Given the description of an element on the screen output the (x, y) to click on. 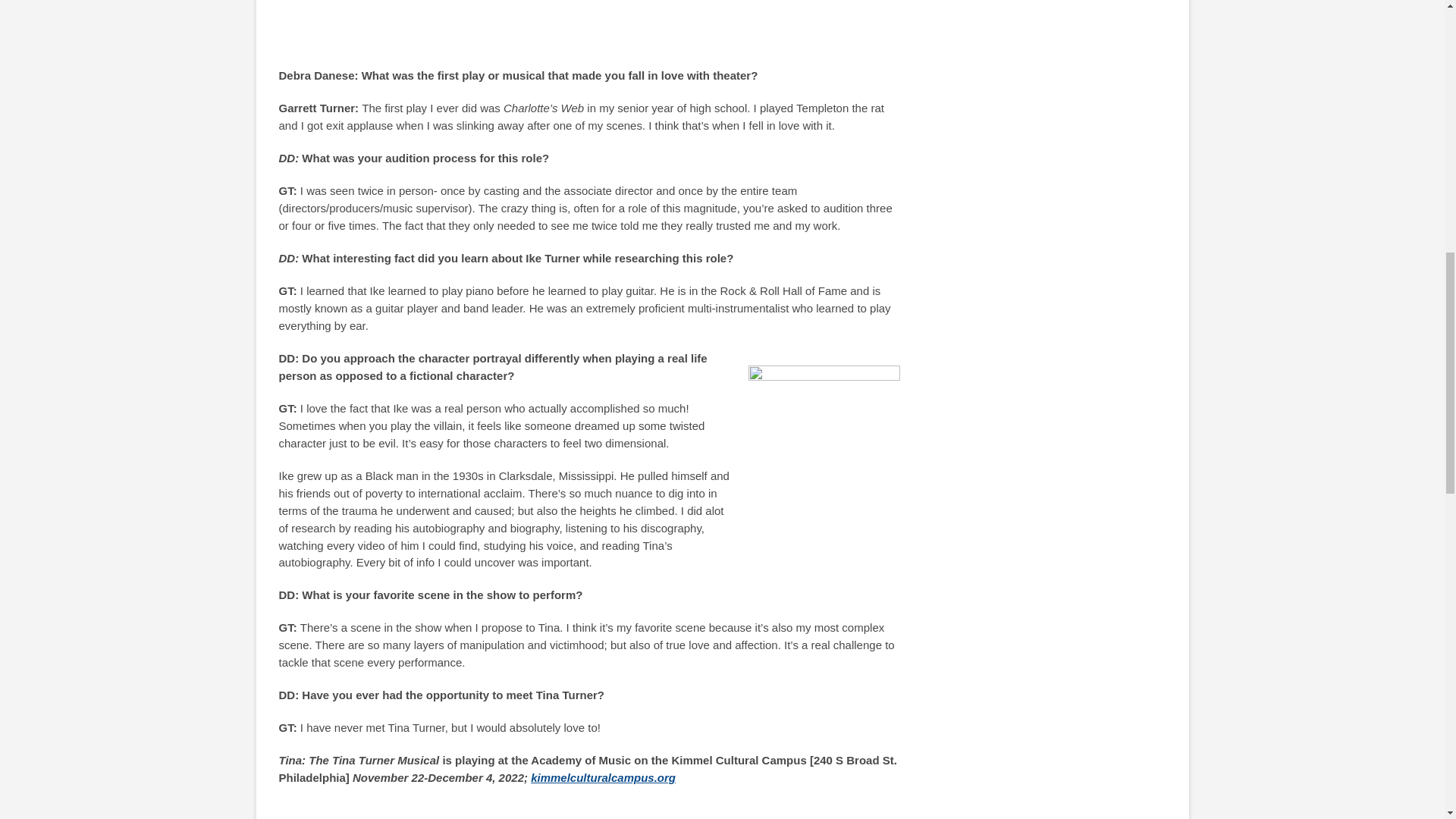
kimmelculturalcampus.org (603, 777)
